Given the description of an element on the screen output the (x, y) to click on. 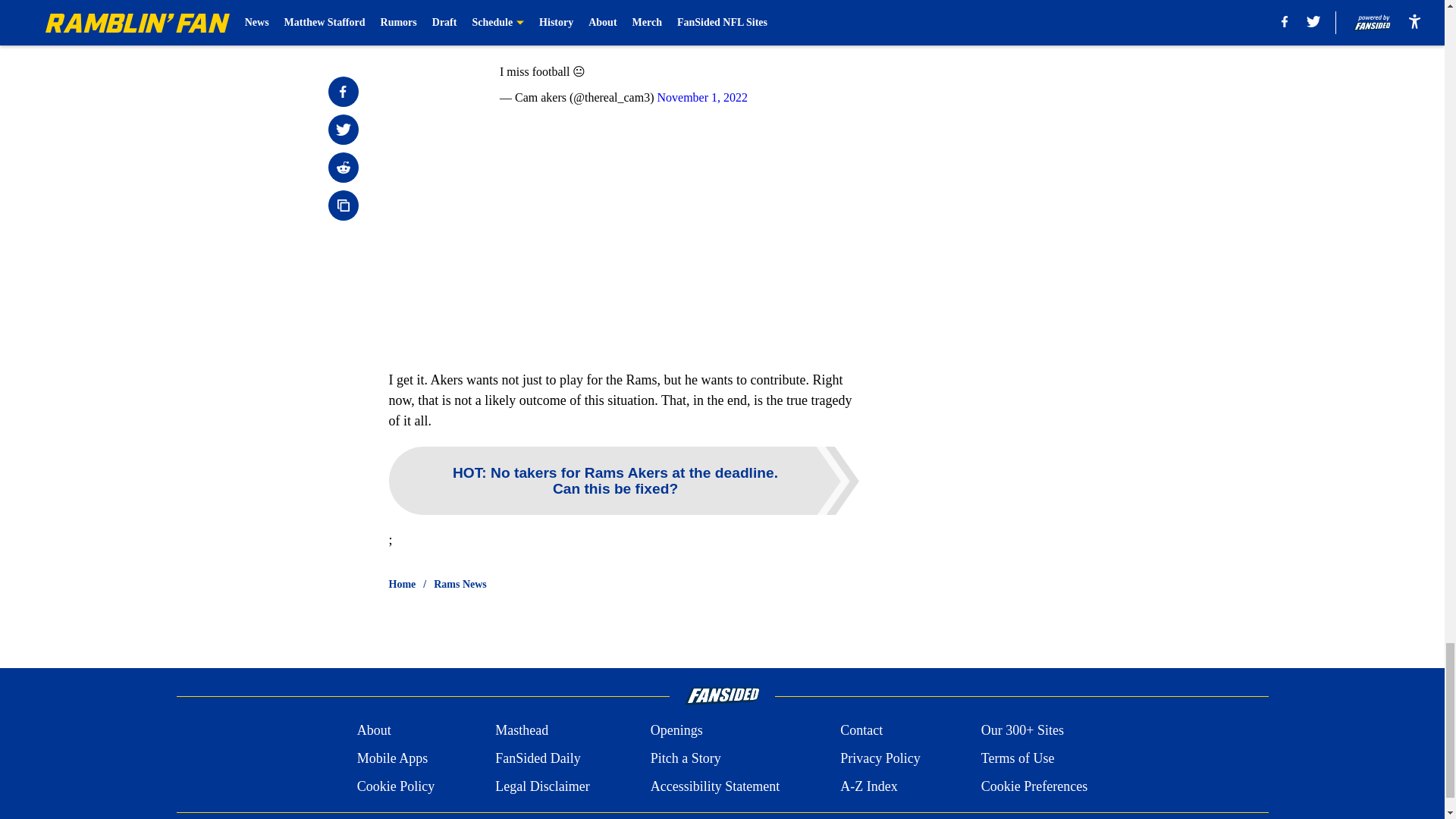
About (373, 730)
Openings (676, 730)
Mobile Apps (392, 758)
November 1, 2022 (702, 97)
Home (401, 584)
Rams News (459, 584)
Masthead (521, 730)
Contact (861, 730)
